Given the description of an element on the screen output the (x, y) to click on. 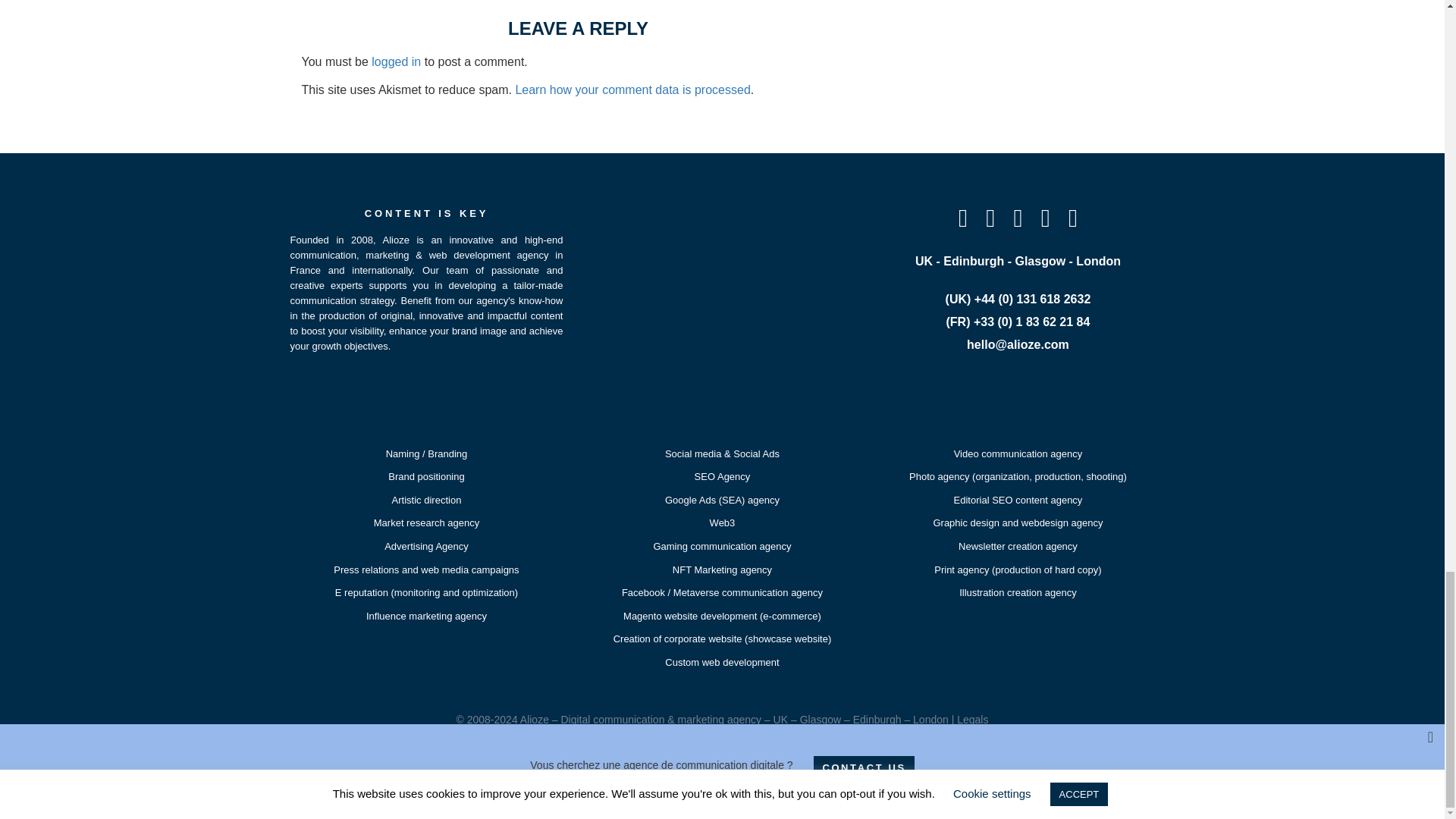
logged in (395, 61)
Learn how your comment data is processed (632, 89)
